Given the description of an element on the screen output the (x, y) to click on. 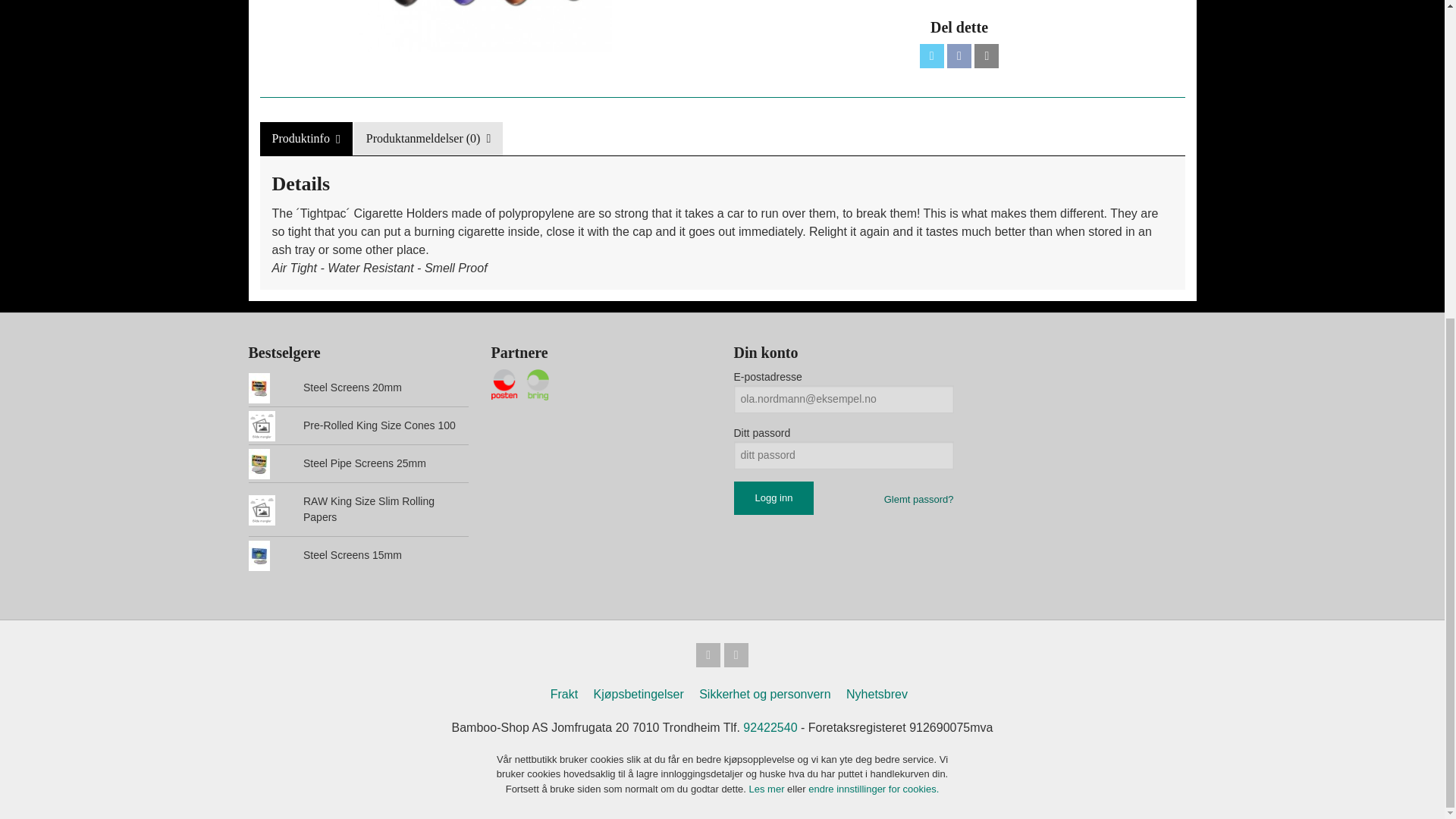
Logg inn (773, 498)
